Given the description of an element on the screen output the (x, y) to click on. 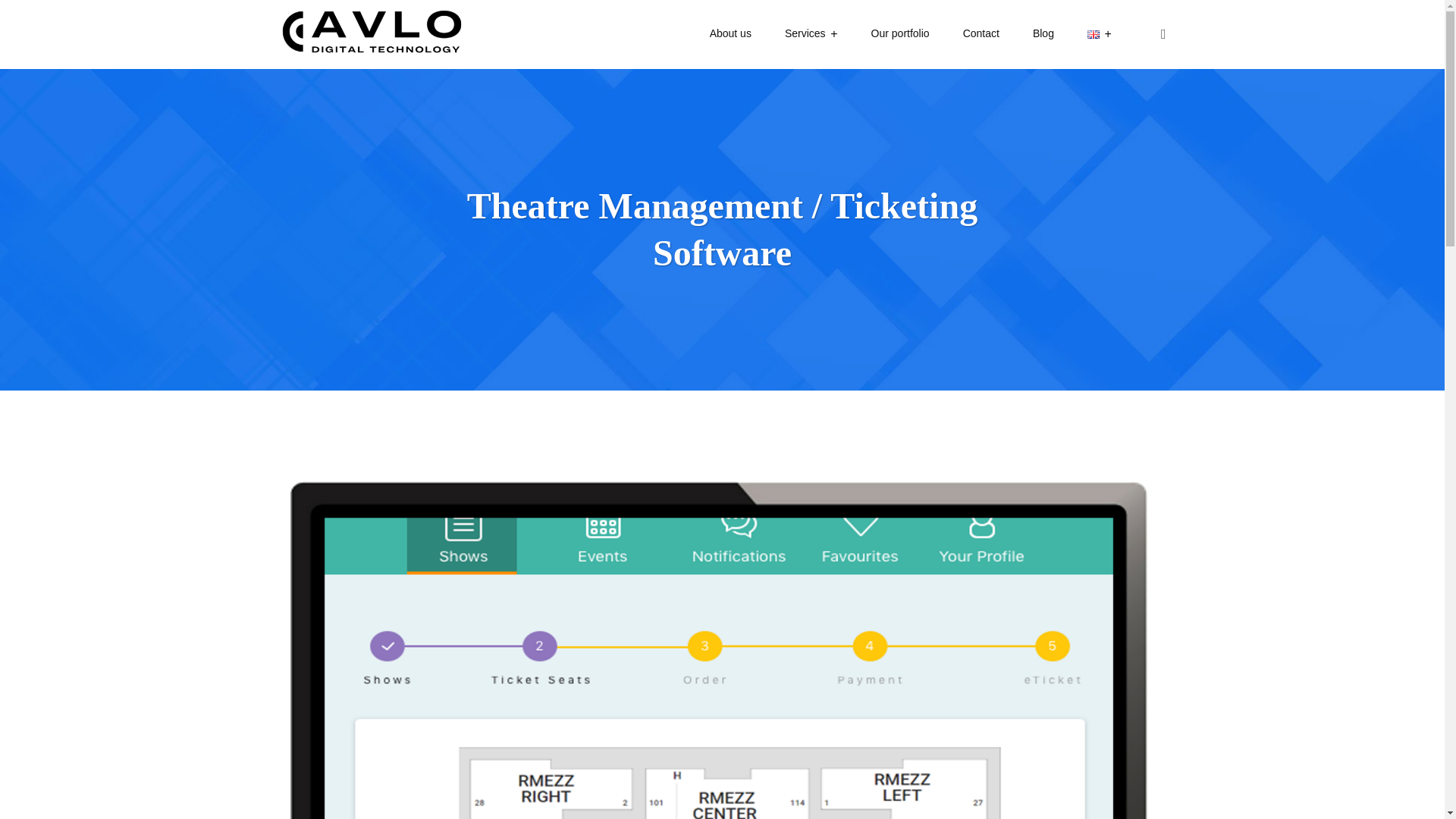
Our portfolio (900, 34)
Blog (1043, 34)
Contact (980, 34)
Services (811, 34)
About us (730, 34)
